Given the description of an element on the screen output the (x, y) to click on. 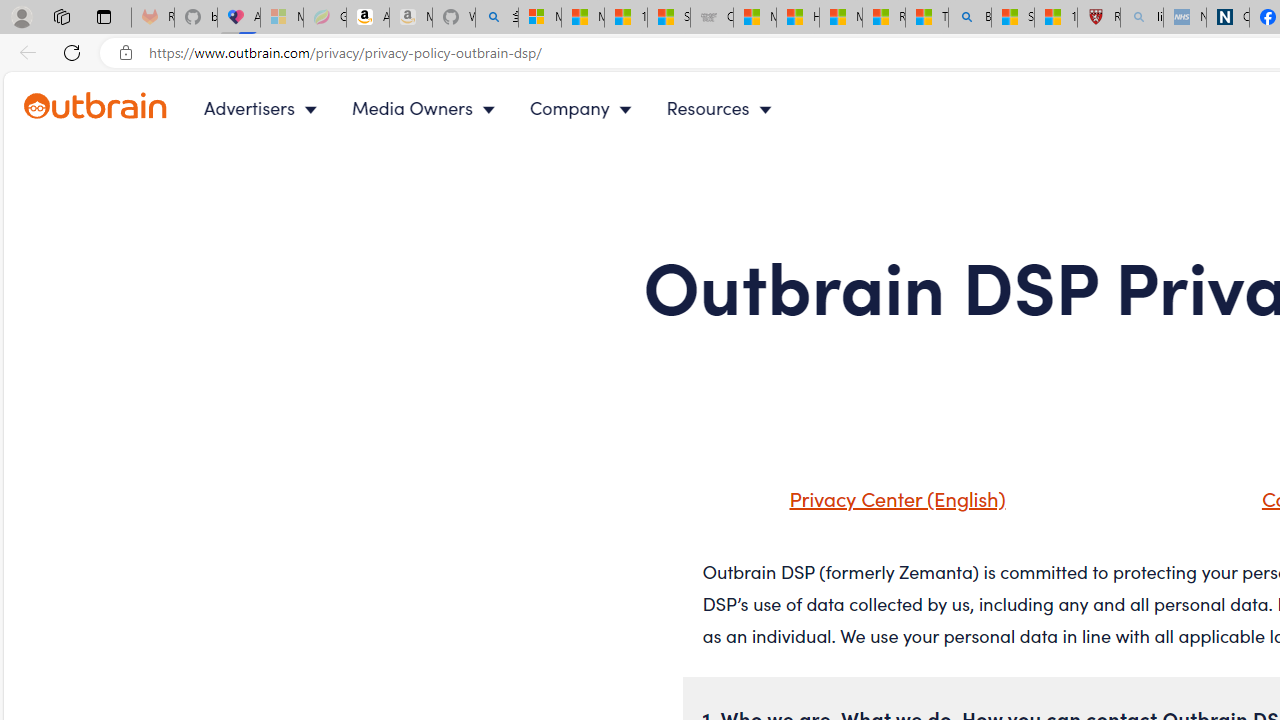
Microsoft-Report a Concern to Bing - Sleeping (282, 17)
Media Owners (427, 107)
Resources (723, 107)
Recipes - MSN (883, 17)
Advertisers (264, 107)
Skip navigation to go to main content (60, 83)
How I Got Rid of Microsoft Edge's Unnecessary Features (798, 17)
Robert H. Shmerling, MD - Harvard Health (1098, 17)
